Given the description of an element on the screen output the (x, y) to click on. 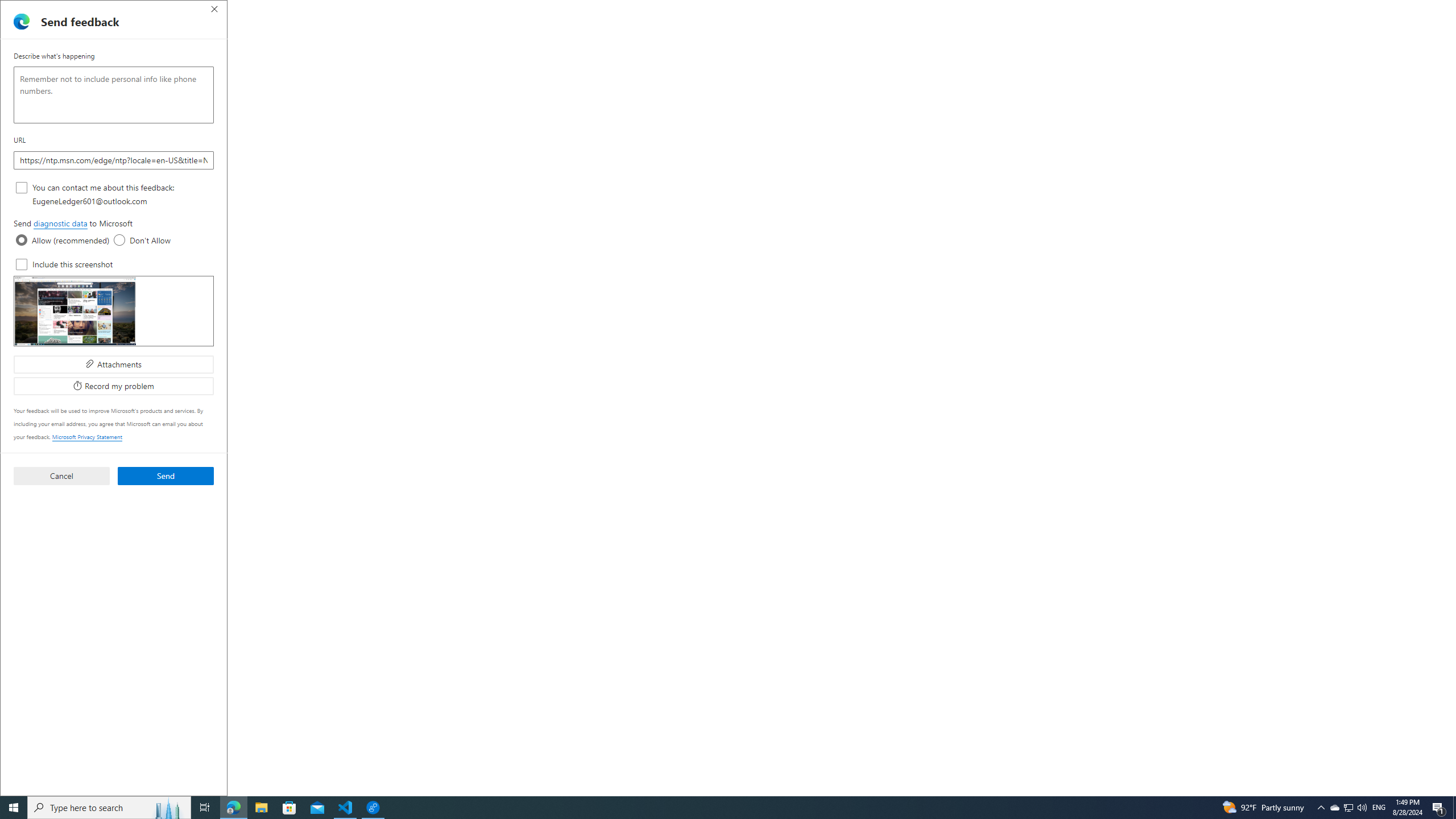
Enterprise and developer products (340, 603)
Browser essentials (1394, 29)
Entertainment and related services (340, 683)
Amazon Echo Dot PNG - Search Images (779, 9)
Other important privacy information (343, 528)
All Cubot phones (1010, 9)
The most popular Google 'how to' searches (1073, 9)
Read aloud this page (Ctrl+Shift+U) (1268, 29)
View site information (70, 29)
Collection of data from children (395, 508)
Nordace - Nordace has arrived Hong Kong (1115, 9)
YouTube Kids - An App Created for Kids to Explore Content (990, 9)
Refresh (40, 29)
Add this page to favorites (Ctrl+D) (1314, 29)
